Given the description of an element on the screen output the (x, y) to click on. 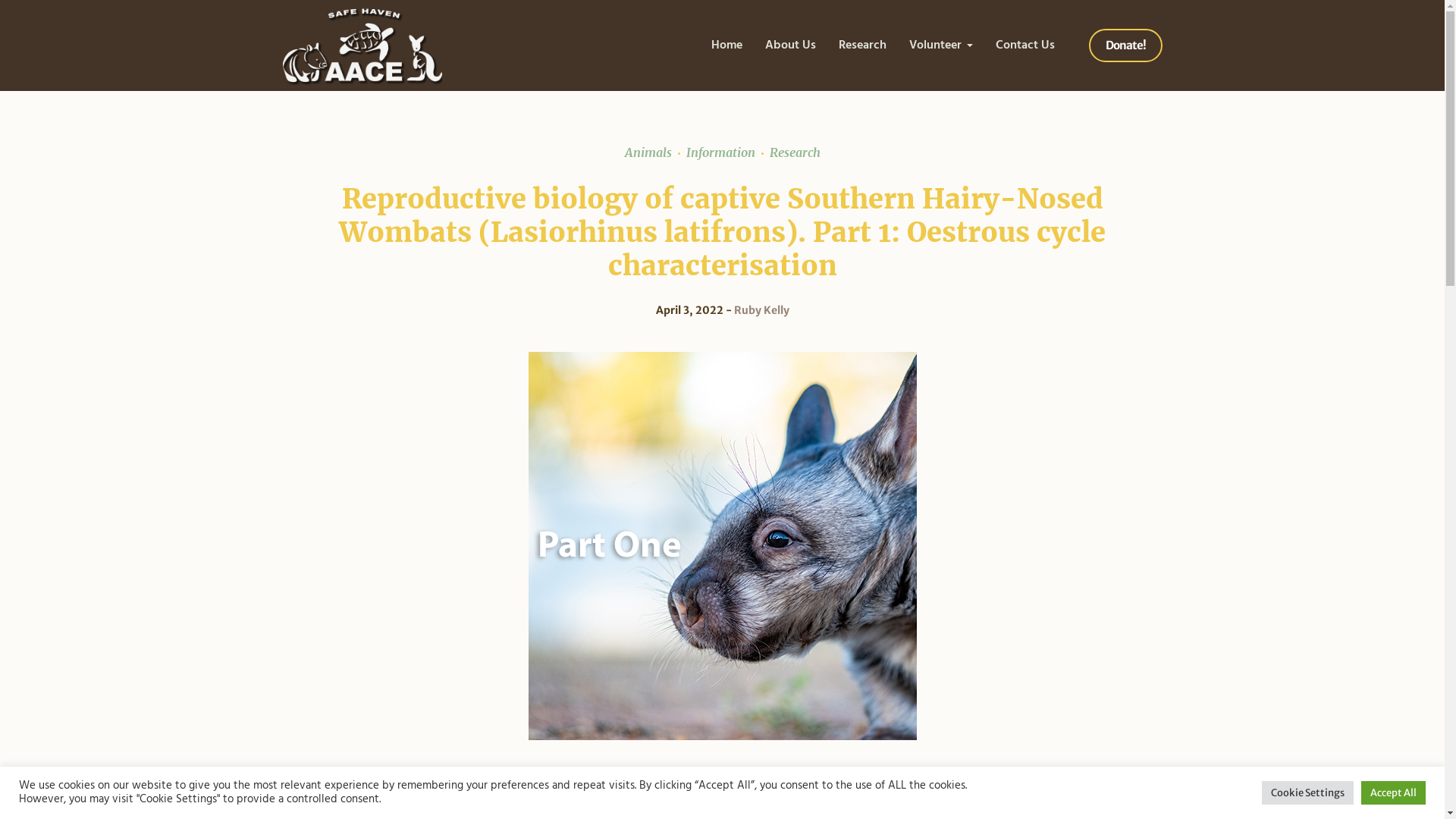
Home Element type: text (726, 45)
Accept All Element type: text (1393, 792)
Donate! Element type: text (1125, 45)
PartOne Element type: hover (721, 545)
Information Element type: text (713, 152)
Cookie Settings Element type: text (1307, 792)
Animals Element type: text (647, 152)
Volunteer Element type: text (940, 45)
Research Element type: text (787, 152)
Contact Us Element type: text (1025, 45)
About Us Element type: text (790, 45)
Ruby Kelly Element type: text (761, 309)
Research Element type: text (861, 45)
